Given the description of an element on the screen output the (x, y) to click on. 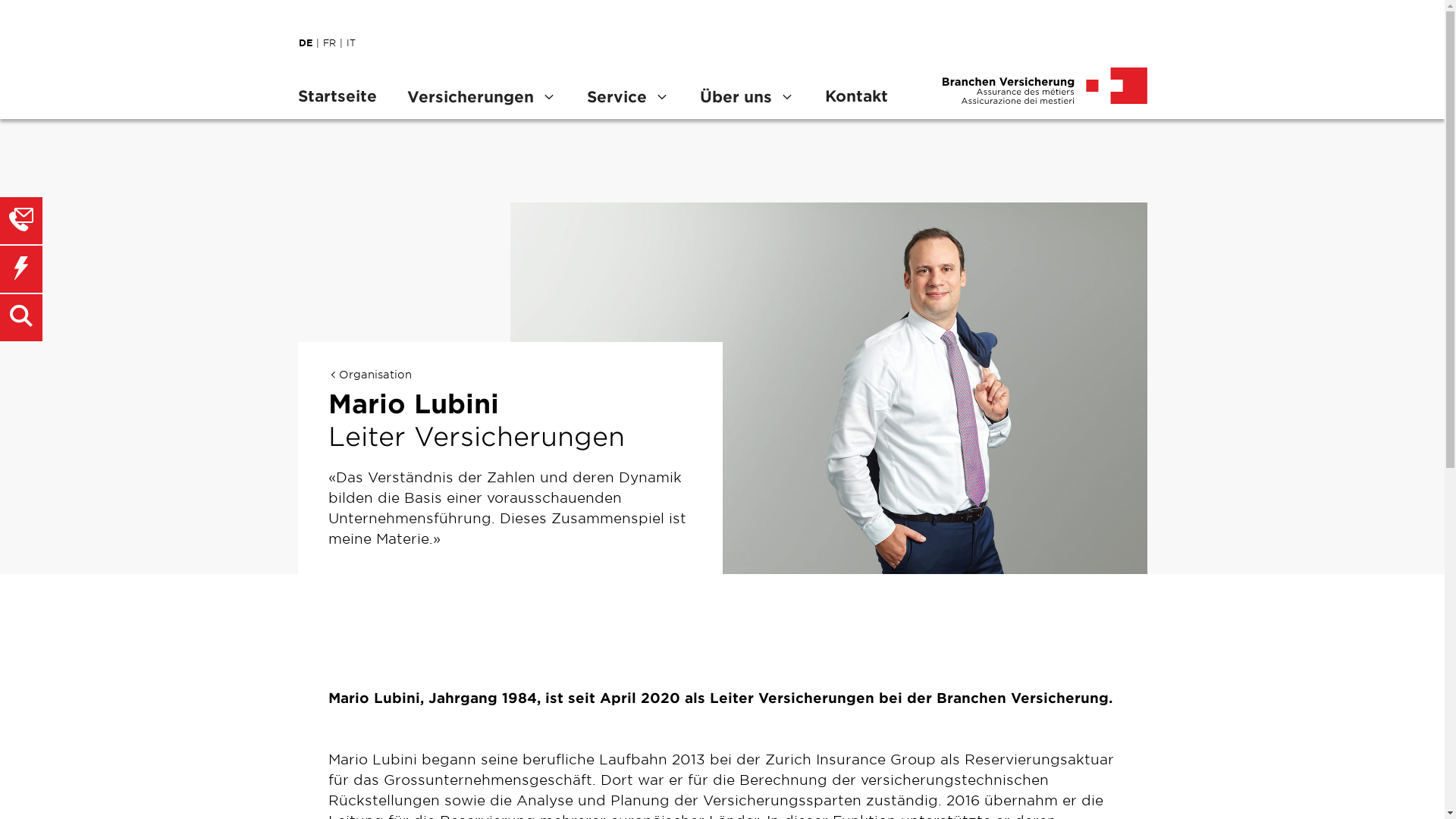
IT Element type: text (353, 42)
Organisation Element type: text (369, 373)
FR Element type: text (334, 42)
Service Element type: text (627, 95)
Startseite Element type: text (344, 95)
Kontakt Element type: text (856, 95)
DE Element type: text (310, 42)
Versicherungen Element type: text (481, 95)
